Given the description of an element on the screen output the (x, y) to click on. 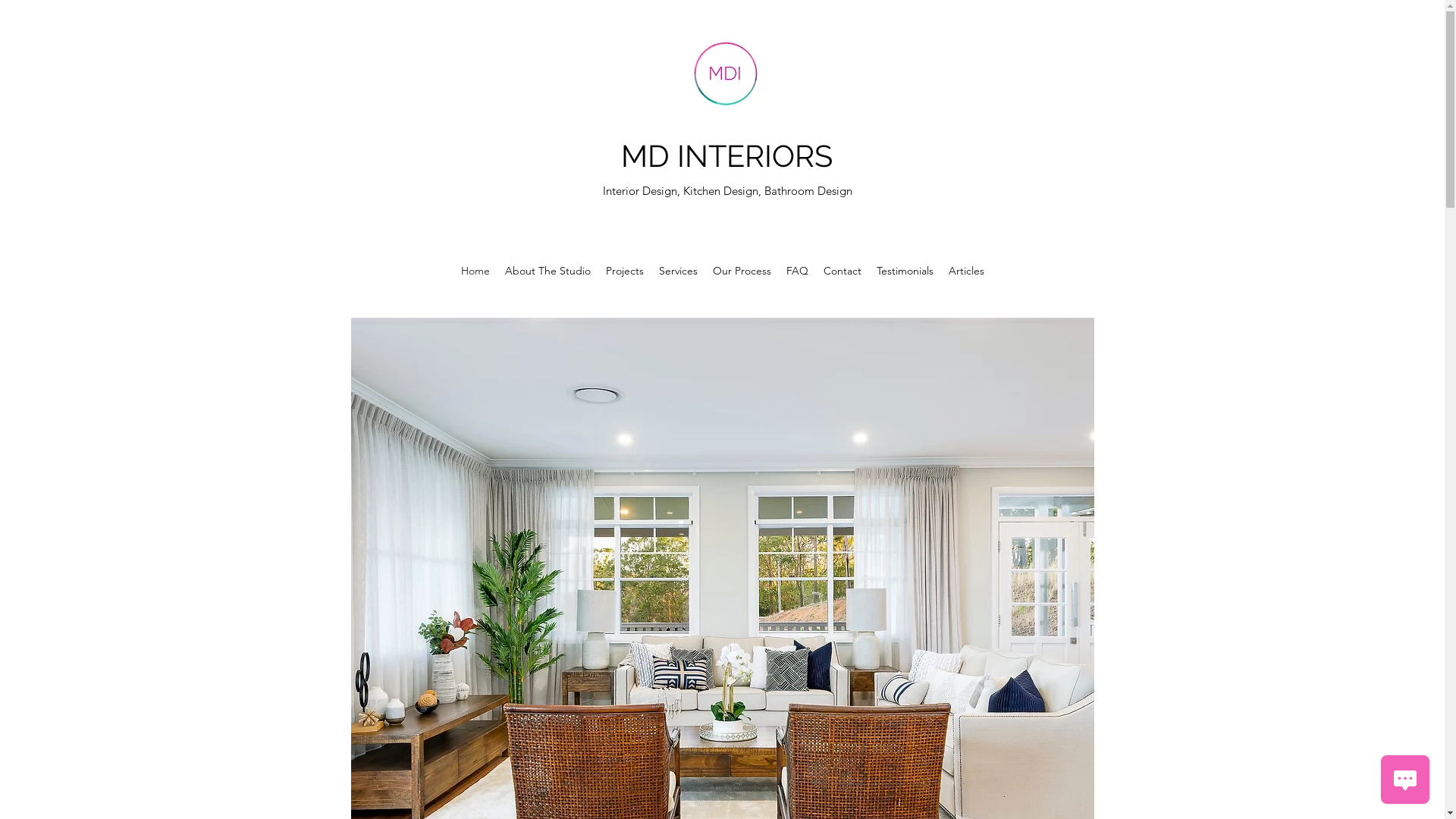
Our Process Element type: text (741, 270)
Articles Element type: text (965, 270)
About The Studio Element type: text (547, 270)
Testimonials Element type: text (905, 270)
Home Element type: text (475, 270)
Projects Element type: text (623, 270)
Contact Element type: text (842, 270)
FAQ Element type: text (796, 270)
Services Element type: text (677, 270)
MD INTERIORS Element type: text (726, 155)
